Given the description of an element on the screen output the (x, y) to click on. 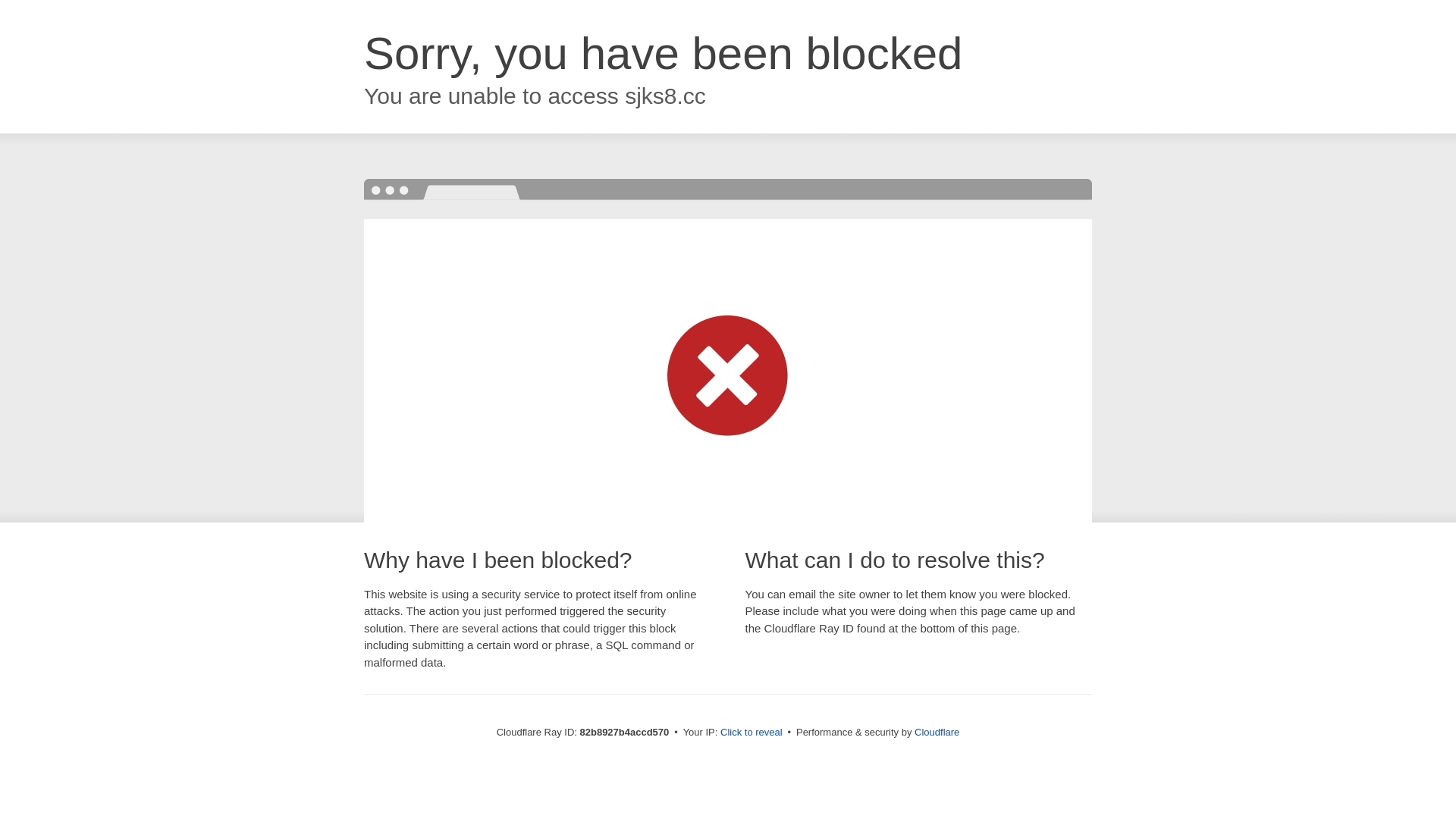
Cloudflare Element type: text (936, 731)
Click to reveal Element type: text (751, 732)
